Given the description of an element on the screen output the (x, y) to click on. 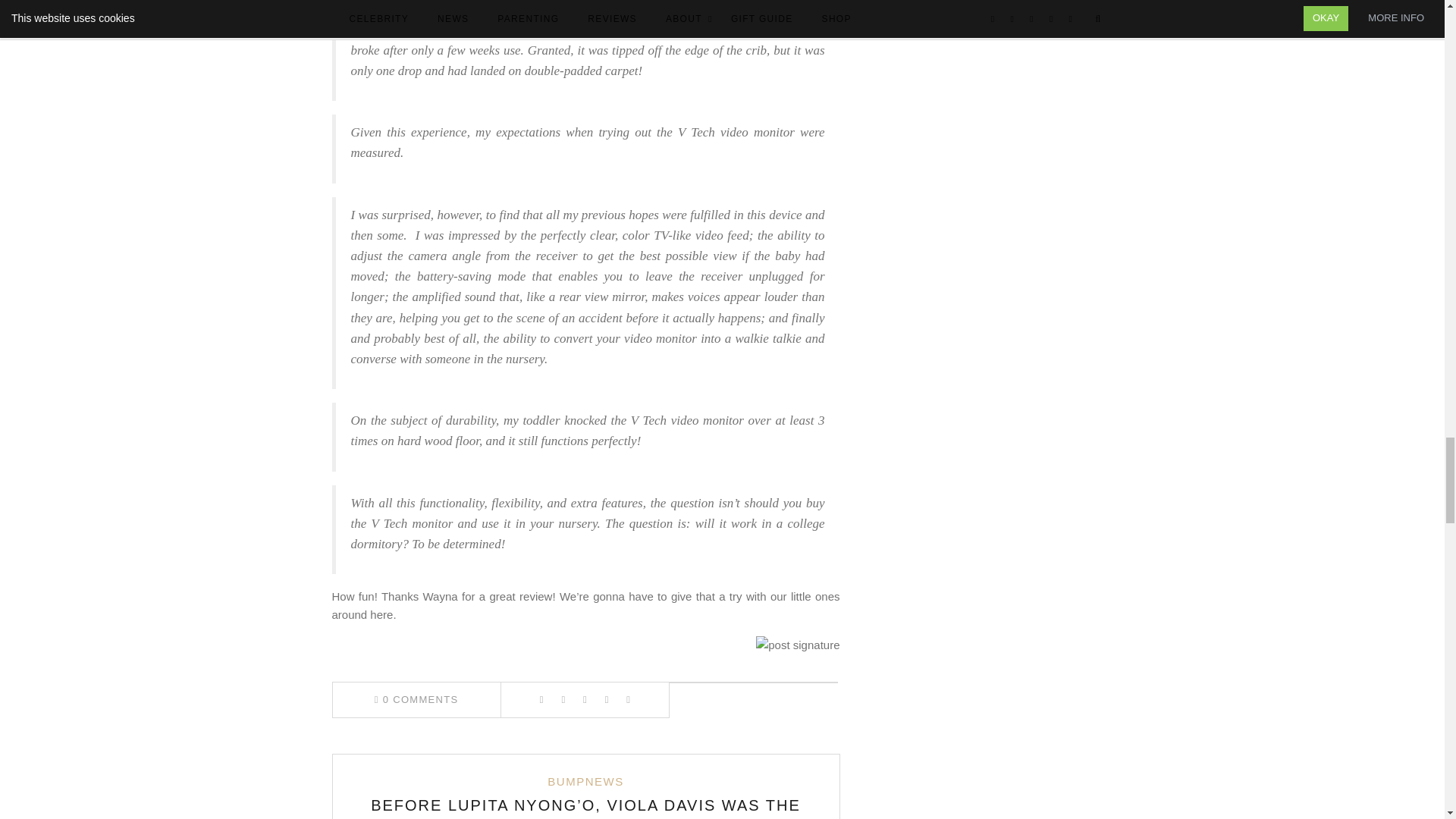
Pinterest (584, 699)
Twitter (562, 699)
LinkedIn (605, 699)
Facebook (541, 699)
0 COMMENTS (416, 699)
